Given the description of an element on the screen output the (x, y) to click on. 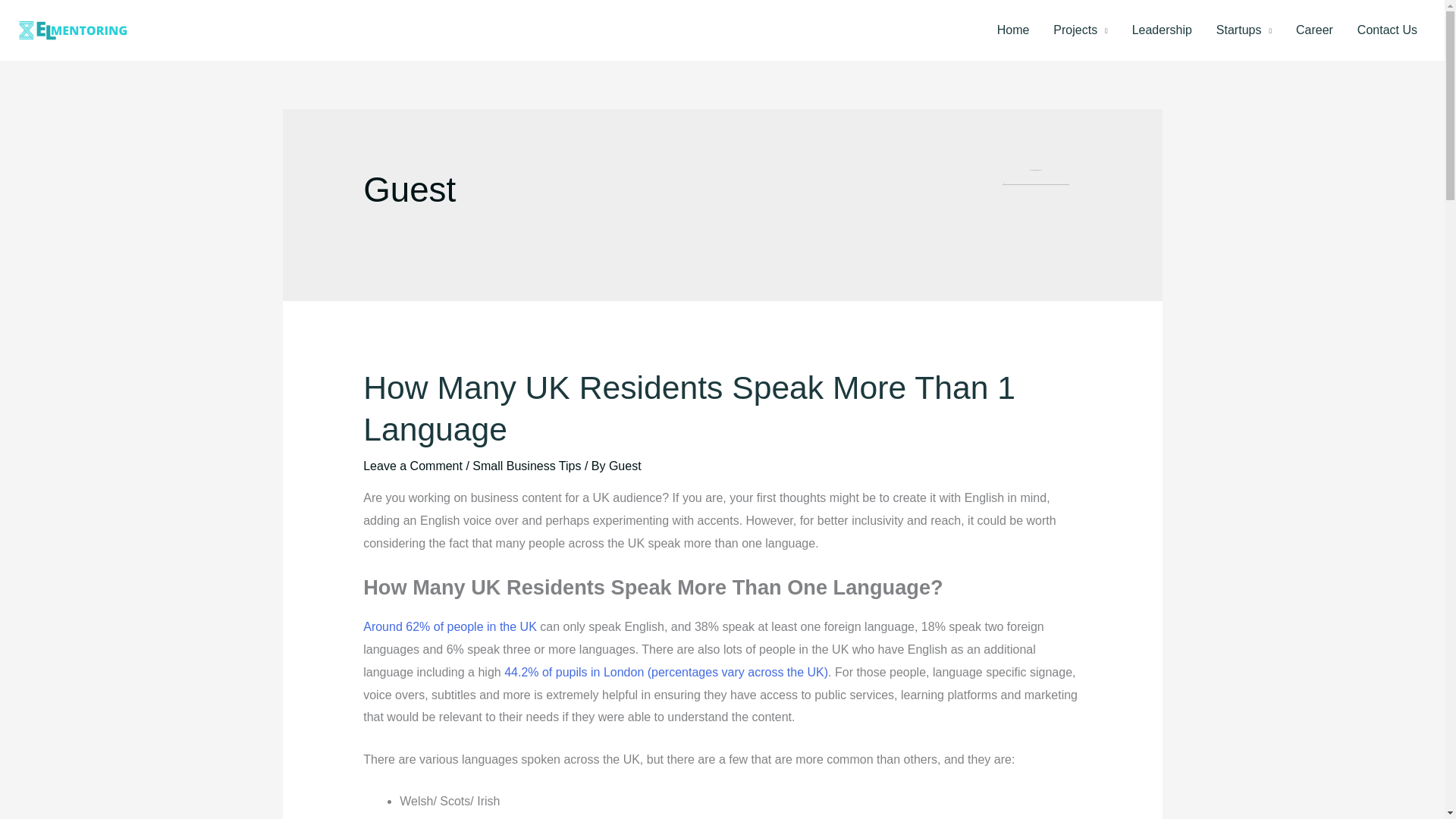
Startups (1244, 30)
Leave a Comment (412, 465)
Small Business Tips (525, 465)
Career (1314, 30)
Leadership (1161, 30)
View all posts by Guest (625, 465)
Projects (1080, 30)
How Many UK Residents Speak More Than 1 Language (688, 408)
Home (1013, 30)
Guest (625, 465)
Contact Us (1387, 30)
